Given the description of an element on the screen output the (x, y) to click on. 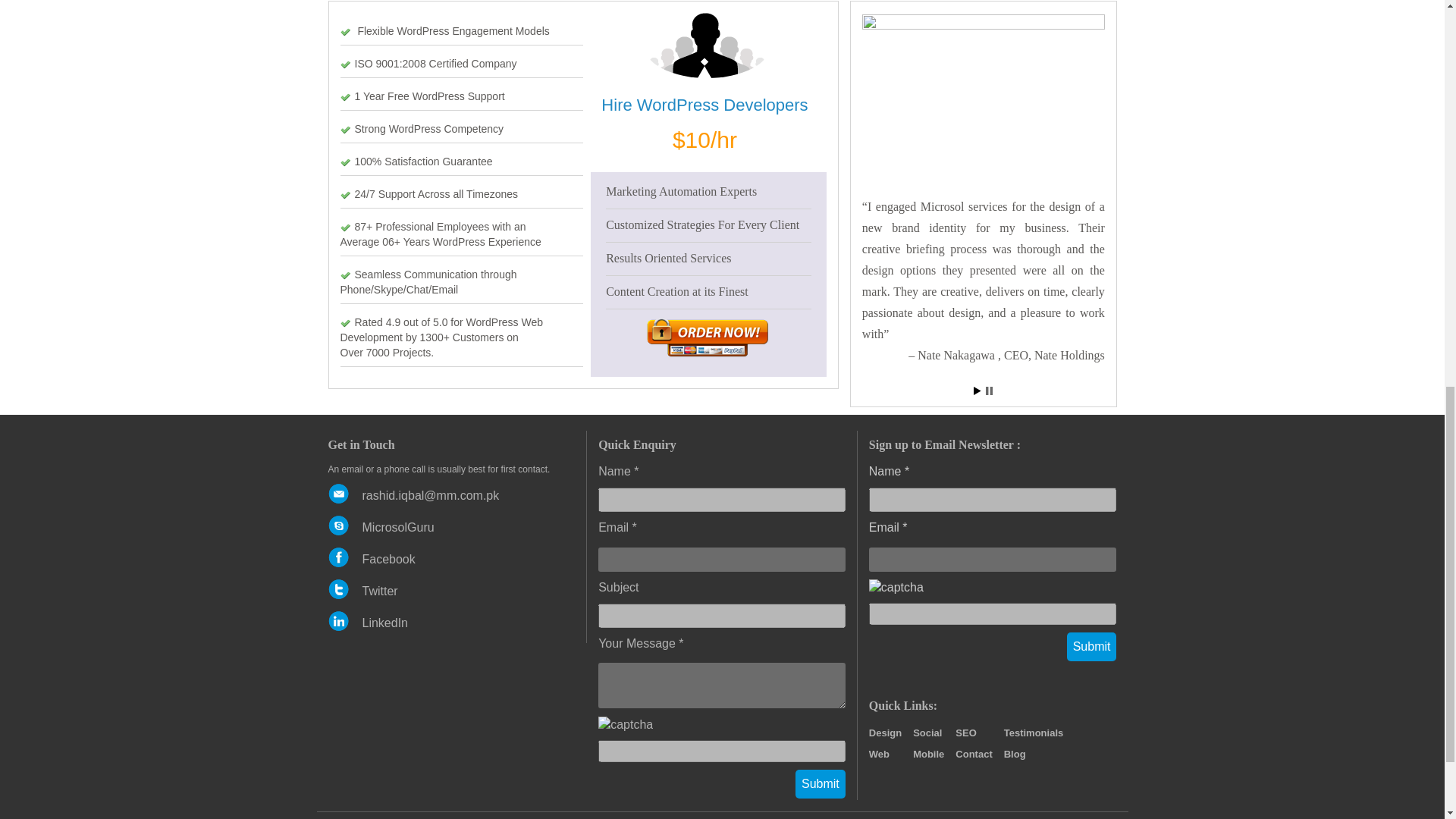
Facebook (388, 558)
Submit (819, 783)
LinkedIn (385, 622)
Submit (1091, 646)
MicrosolGuru (397, 526)
Start (977, 390)
Submit (819, 783)
Twitter (379, 590)
